Given the description of an element on the screen output the (x, y) to click on. 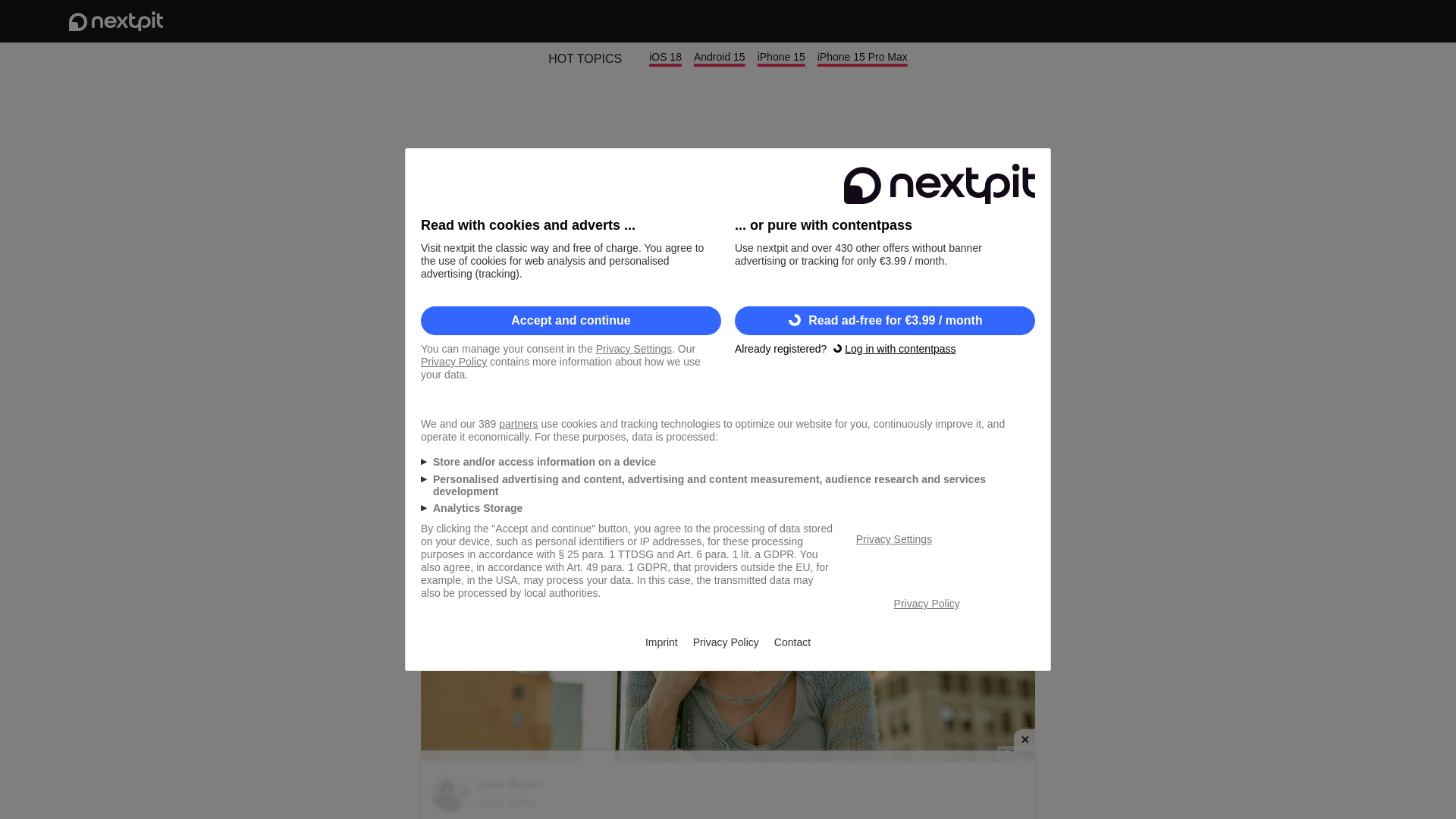
To the nextpit homepage (115, 21)
Login (1325, 21)
2 min read (452, 396)
Feb 18, 2024, 7:00:00 PM (981, 397)
